Given the description of an element on the screen output the (x, y) to click on. 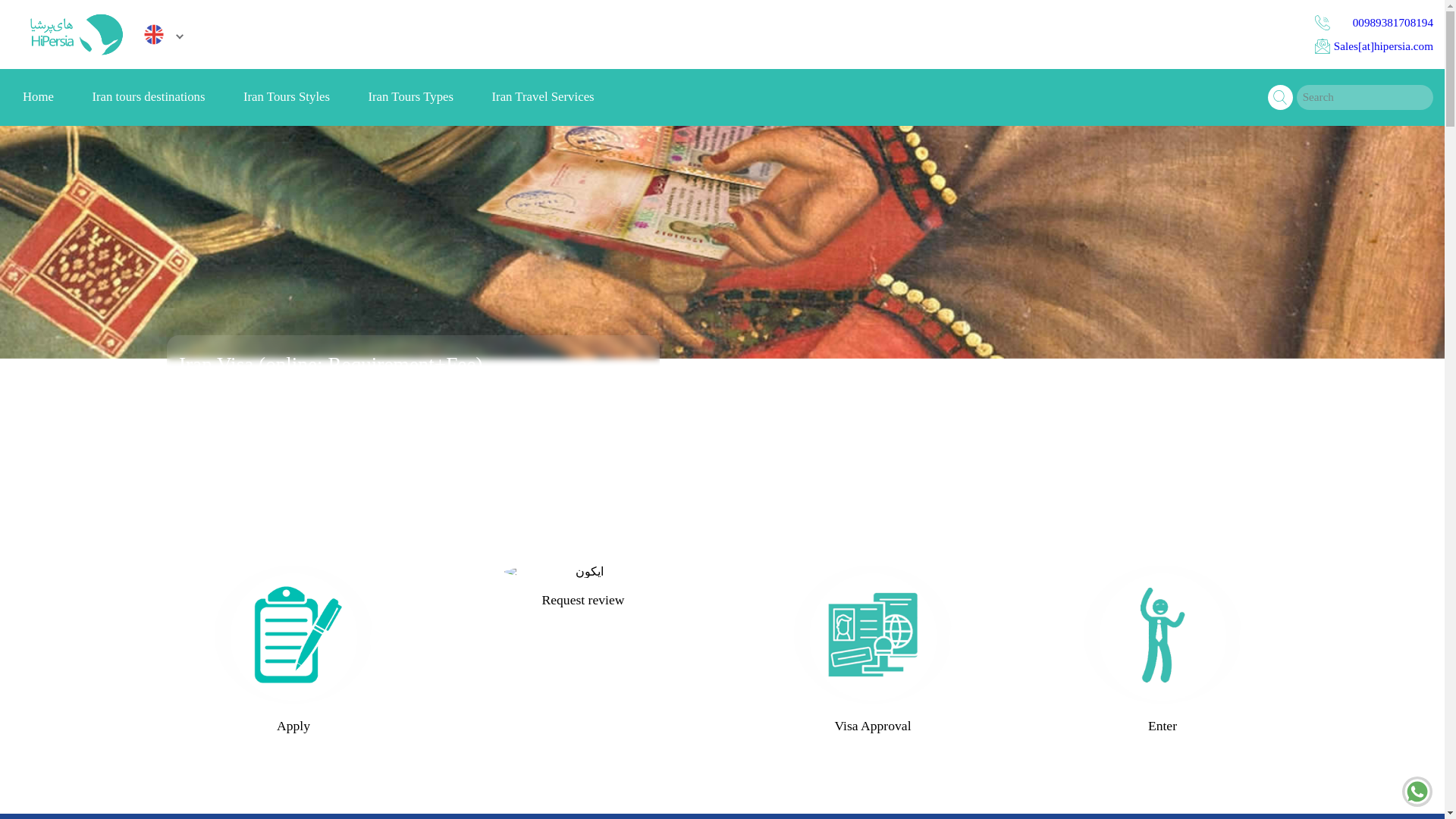
Iran tours destinations (148, 97)
00989381708194 (1373, 22)
Home (38, 97)
Home (38, 97)
HiPersia (74, 34)
Iran tours destinations (148, 97)
